Given the description of an element on the screen output the (x, y) to click on. 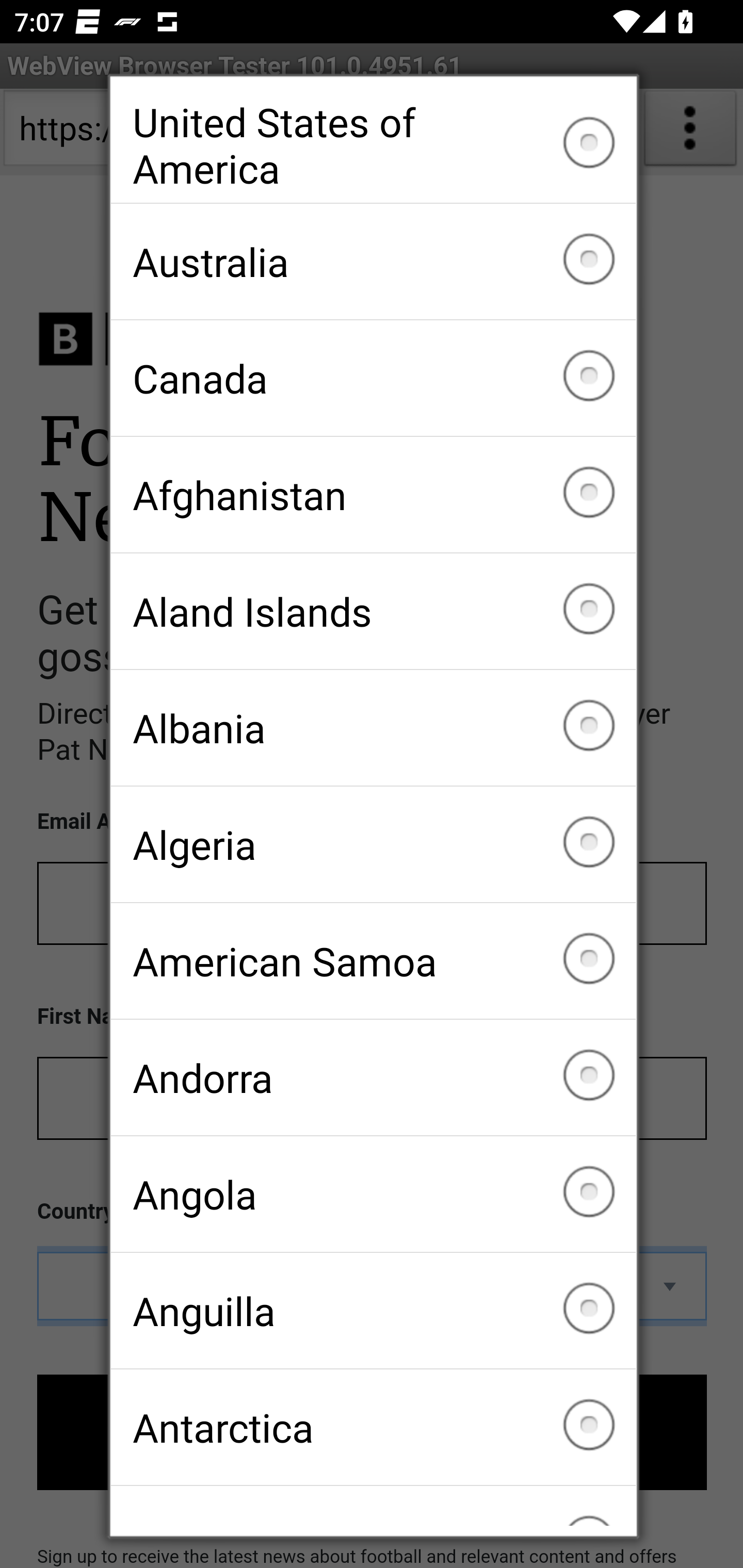
United States of America (373, 144)
Australia (373, 261)
Canada (373, 377)
Afghanistan (373, 494)
Aland Islands (373, 611)
Albania (373, 727)
Algeria (373, 844)
American Samoa (373, 961)
Andorra (373, 1077)
Angola (373, 1193)
Anguilla (373, 1310)
Antarctica (373, 1426)
